Given the description of an element on the screen output the (x, y) to click on. 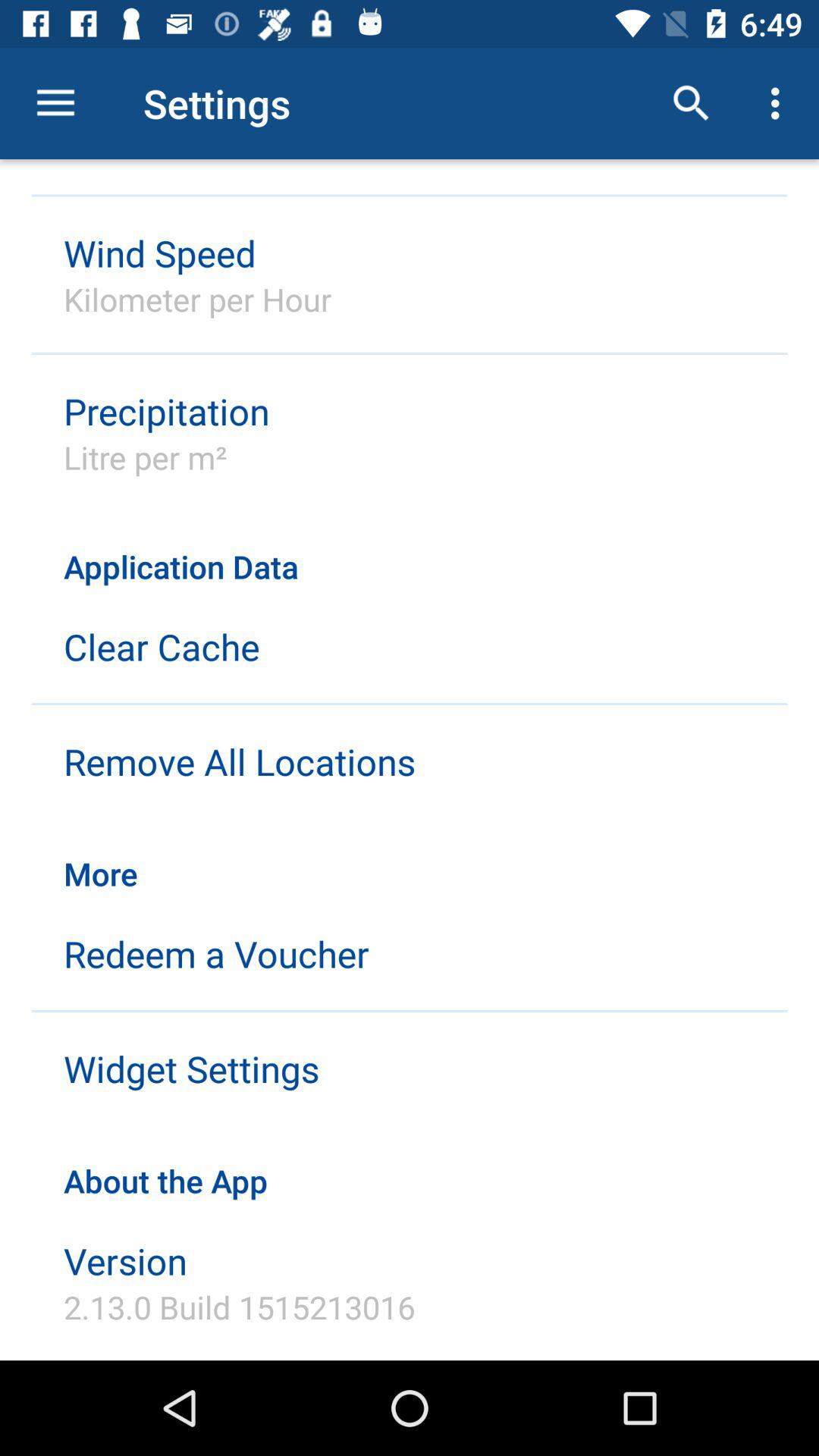
tap the item above more icon (239, 761)
